Given the description of an element on the screen output the (x, y) to click on. 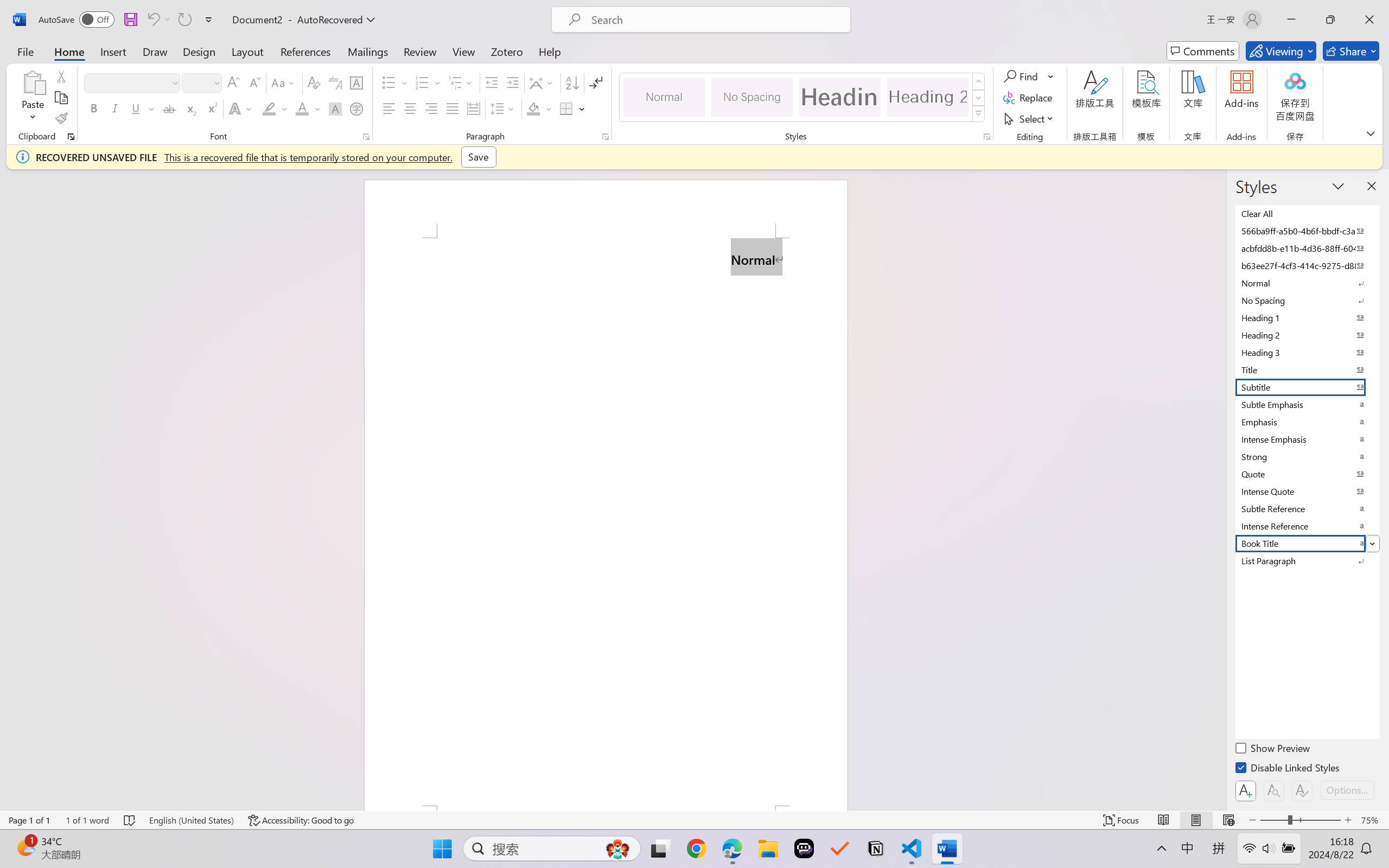
Shading (539, 108)
Copy (60, 97)
Character Shading (334, 108)
Heading 3 (1306, 352)
Grow Font (233, 82)
Decrease Indent (491, 82)
Open (215, 82)
